Given the description of an element on the screen output the (x, y) to click on. 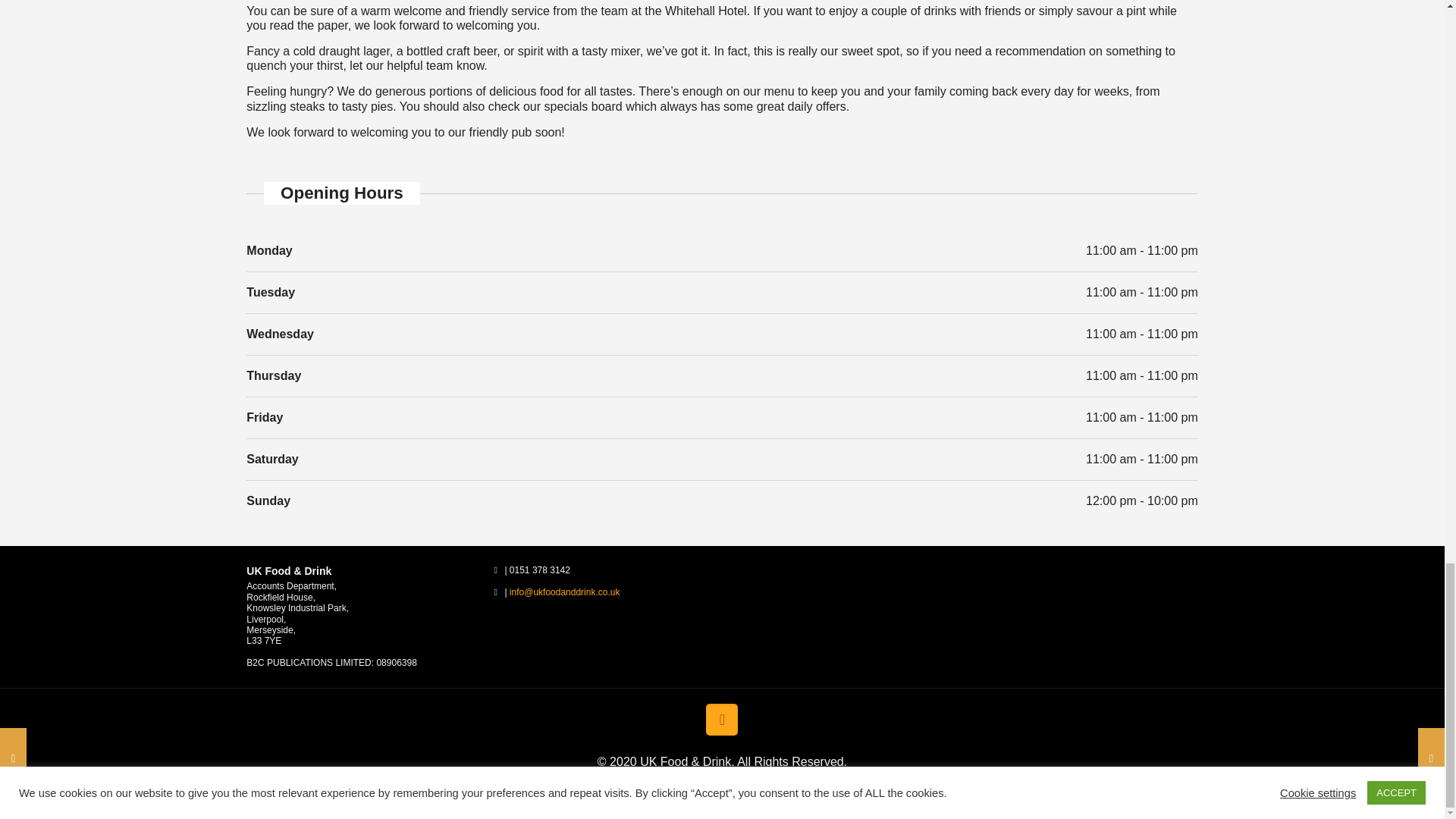
Privacy Policy (780, 791)
